Given the description of an element on the screen output the (x, y) to click on. 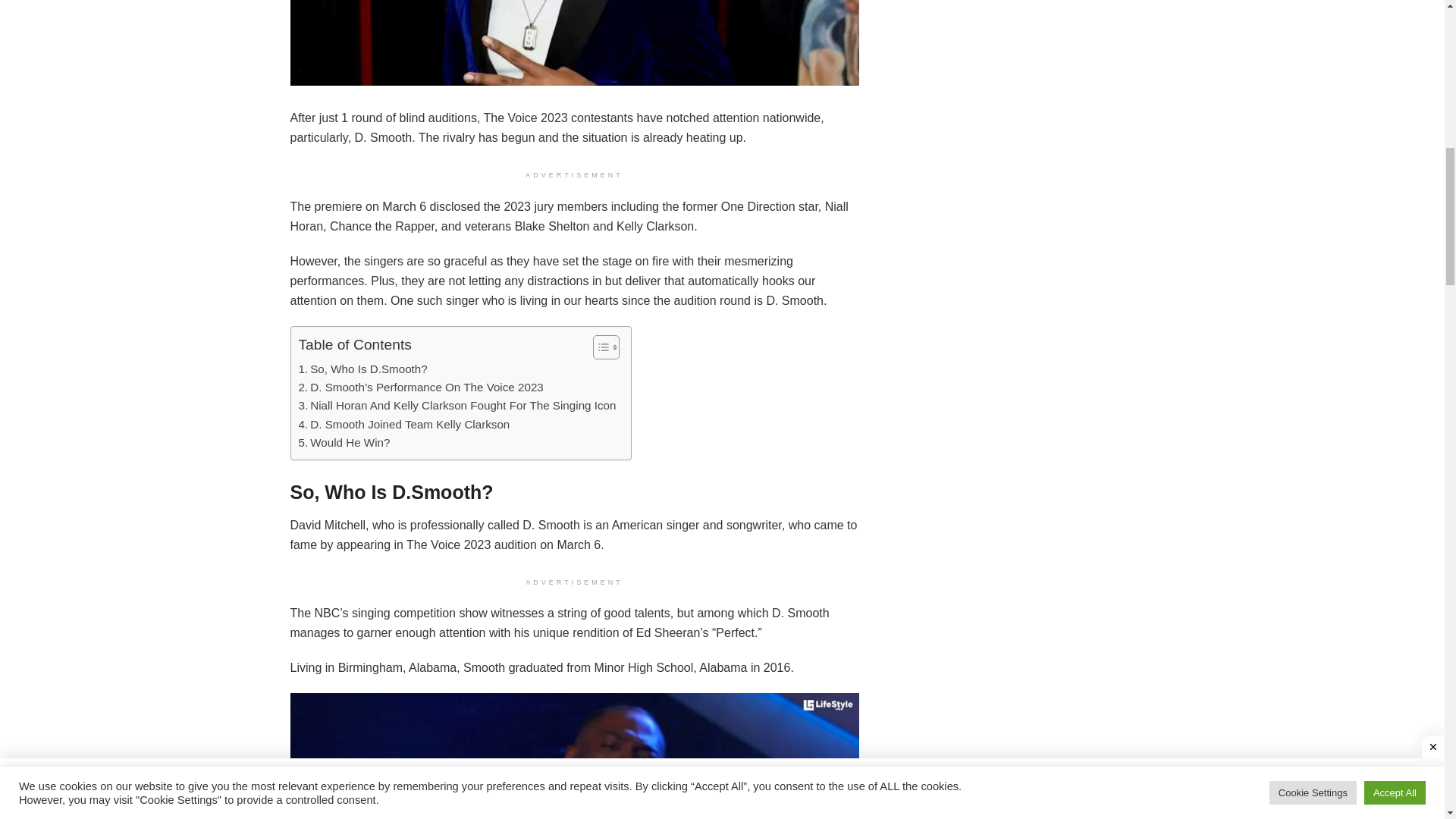
Would He Win? (344, 443)
So, Who Is D.Smooth?  (364, 369)
Niall Horan And Kelly Clarkson Fought For The Singing Icon (456, 405)
D. Smooth Joined Team Kelly Clarkson  (405, 424)
Niall Horan And Kelly Clarkson Fought For The Singing Icon (456, 405)
Would He Win? (344, 443)
